Given the description of an element on the screen output the (x, y) to click on. 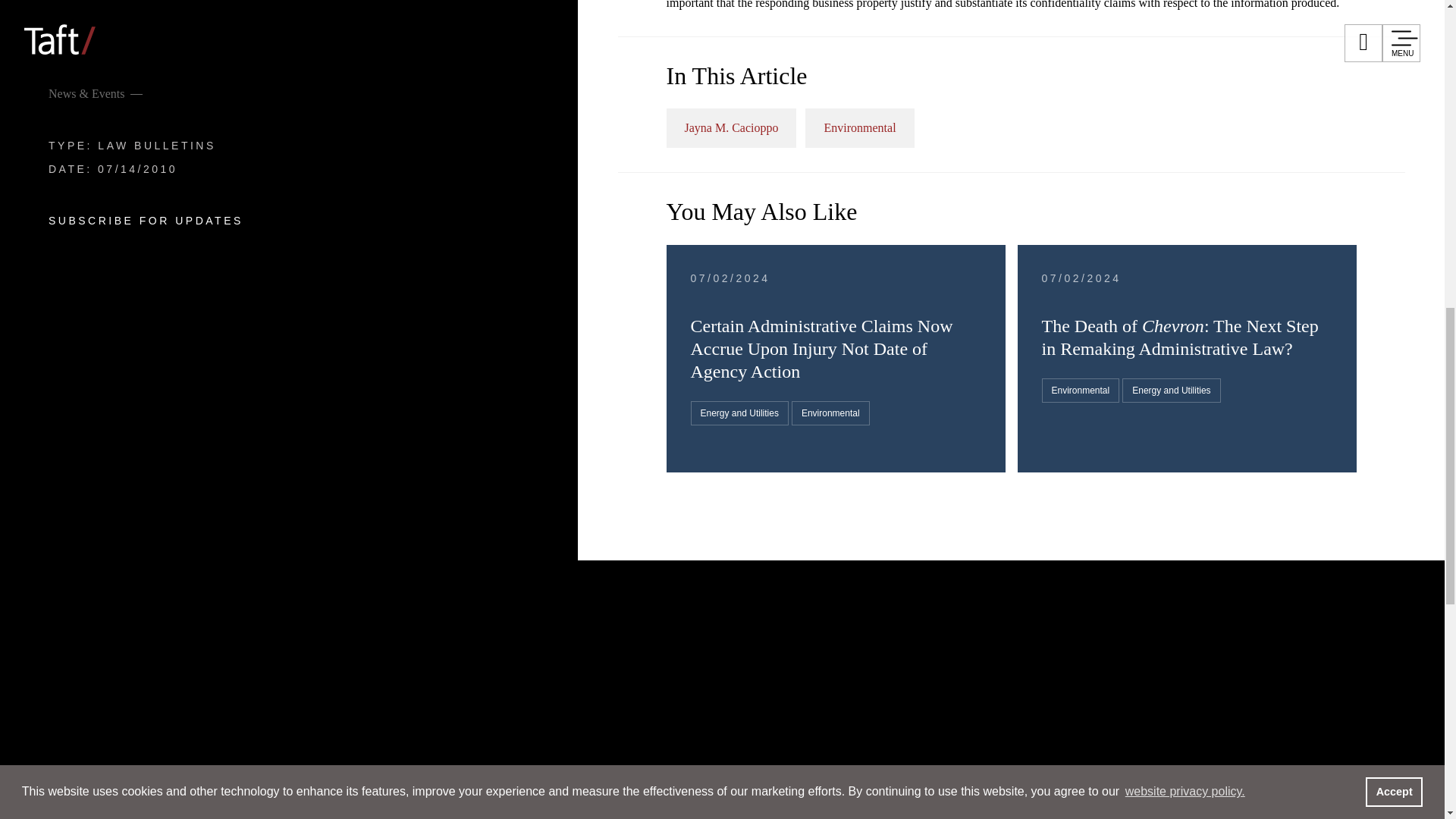
Jayna M. Cacioppo (730, 128)
Accessibility (1242, 610)
People (129, 176)
Payments (861, 636)
Services (144, 265)
Subscribe (925, 610)
Environmental (859, 128)
Contact Us (836, 610)
Terms and Conditions (1114, 610)
Privacy (1002, 610)
About (124, 624)
Careers (136, 535)
Affiliates (753, 610)
